Given the description of an element on the screen output the (x, y) to click on. 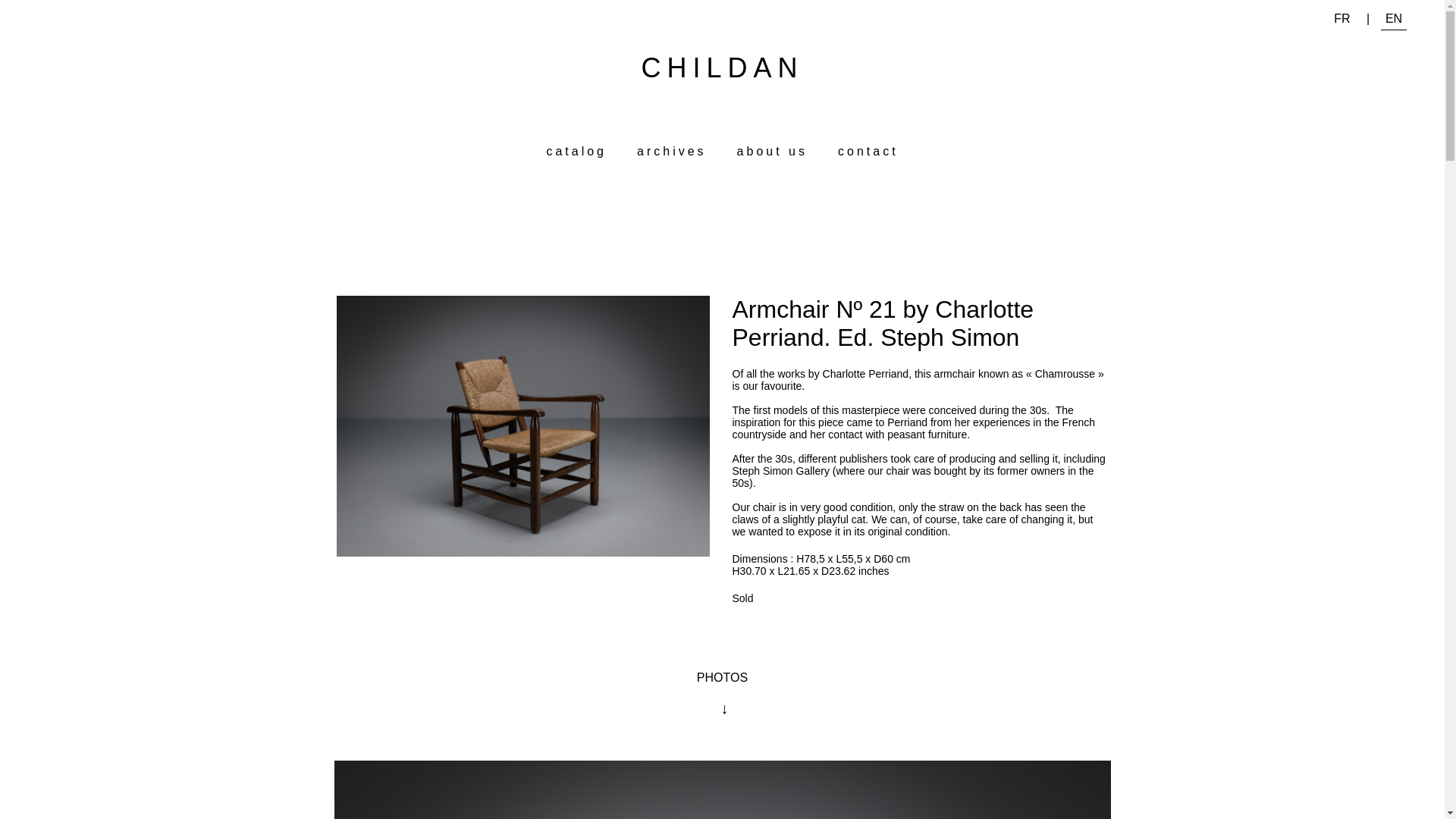
contact (868, 151)
CHILDAN (721, 68)
FR (1341, 18)
catalog (576, 151)
about us (772, 151)
archives (671, 151)
